Given the description of an element on the screen output the (x, y) to click on. 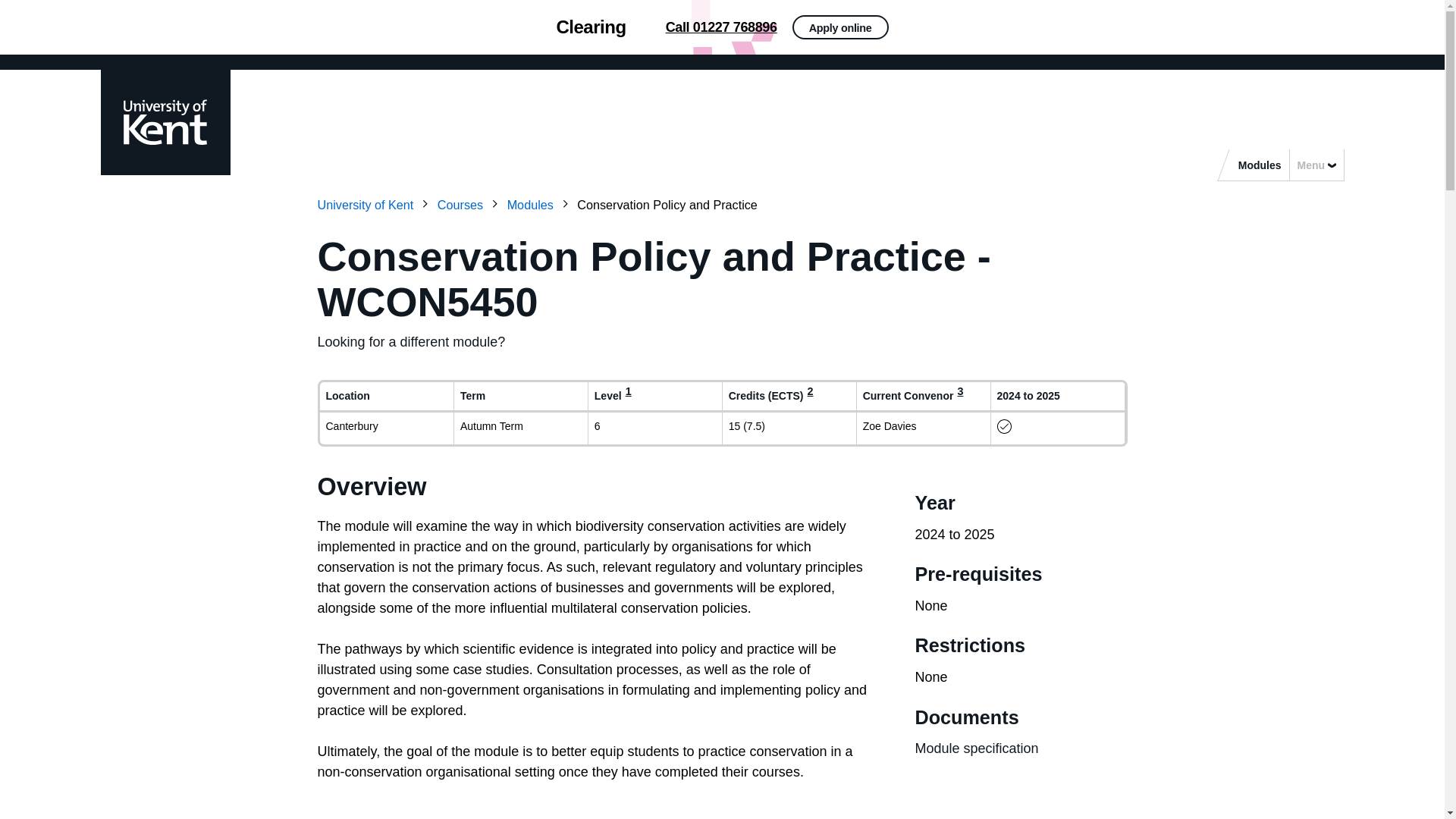
University of Kent logo (164, 121)
Courses (470, 204)
design2 (721, 27)
Modules (539, 204)
Call 01227 768896 (721, 27)
University of Kent (375, 204)
Module specification (976, 748)
Menu (1315, 164)
Modules (1259, 164)
checkmark-circle (1004, 426)
Looking for a different module? (411, 341)
Apply online (1050, 33)
